Given the description of an element on the screen output the (x, y) to click on. 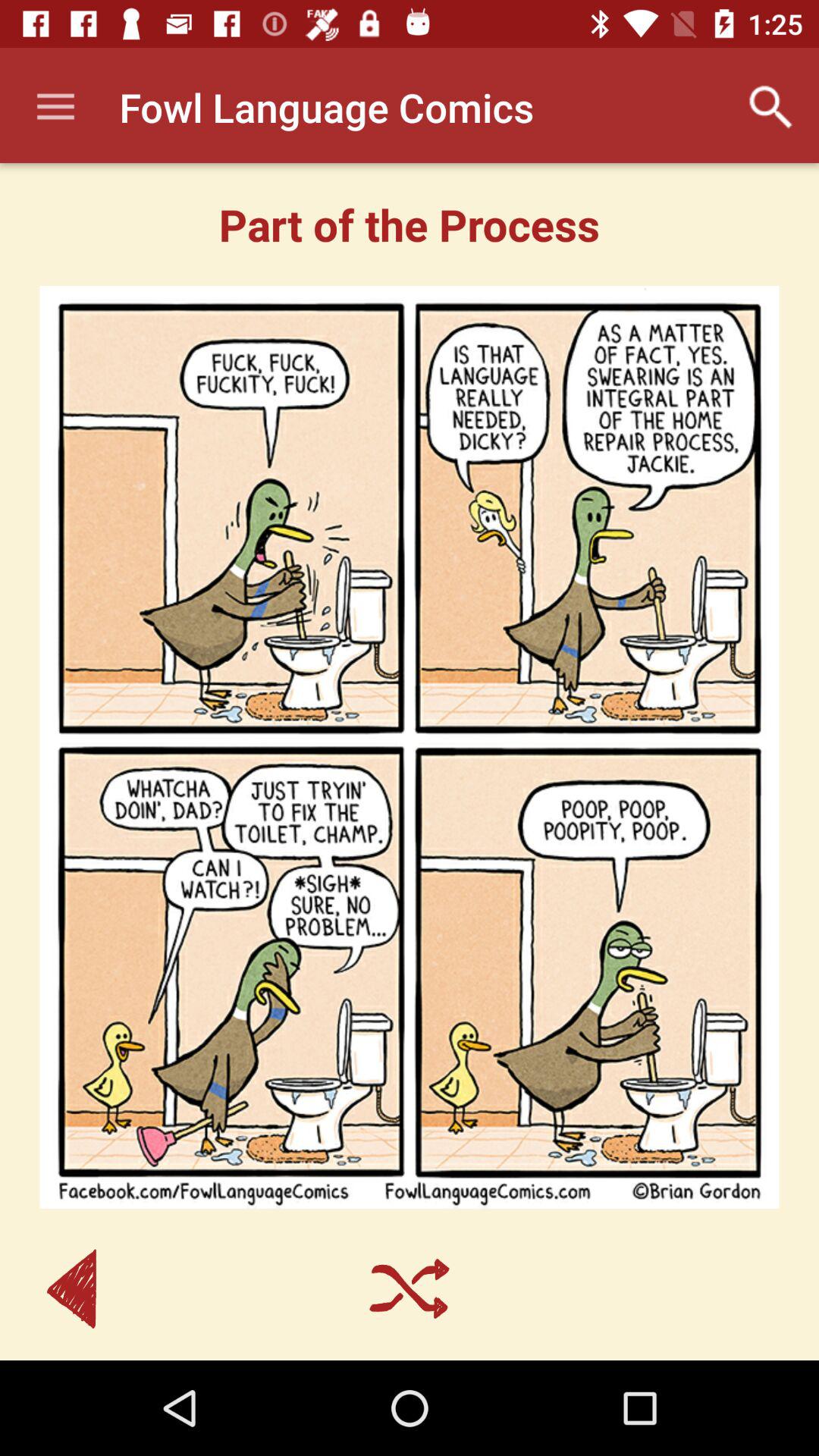
turn on the item next to the fowl language comics item (55, 107)
